Given the description of an element on the screen output the (x, y) to click on. 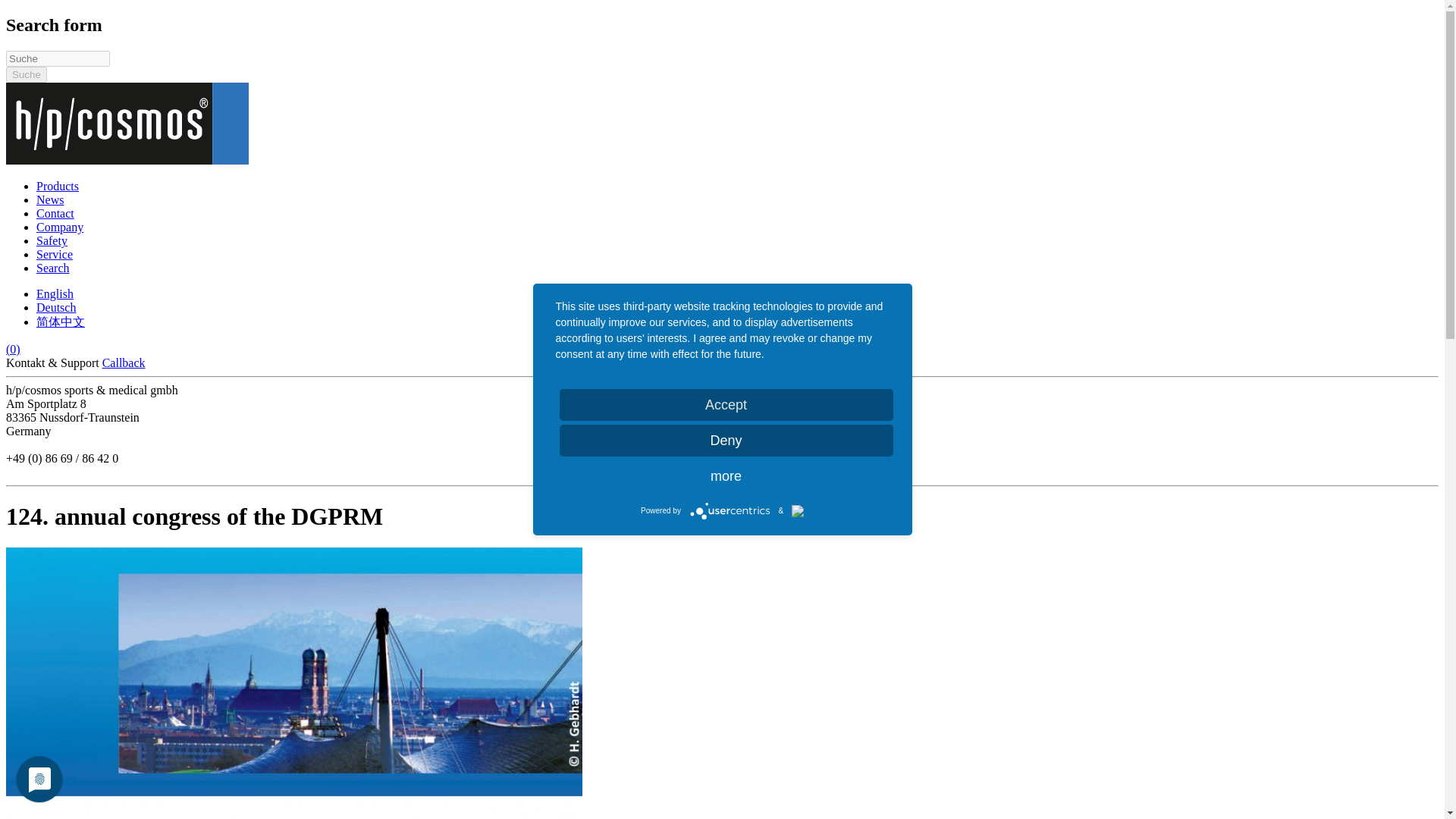
Home (126, 160)
English (55, 293)
124. Jahreskongress DGPRM (55, 307)
Callback (123, 362)
Products (57, 185)
Suche (25, 74)
Company (59, 226)
Contact (55, 213)
Suche (25, 74)
Safety (51, 240)
Geben Sie die Begriffe ein, nach denen Sie suchen. (57, 58)
Search (52, 267)
Service (54, 254)
124. annual congress of the DGPRM (55, 293)
Deutsch (55, 307)
